Given the description of an element on the screen output the (x, y) to click on. 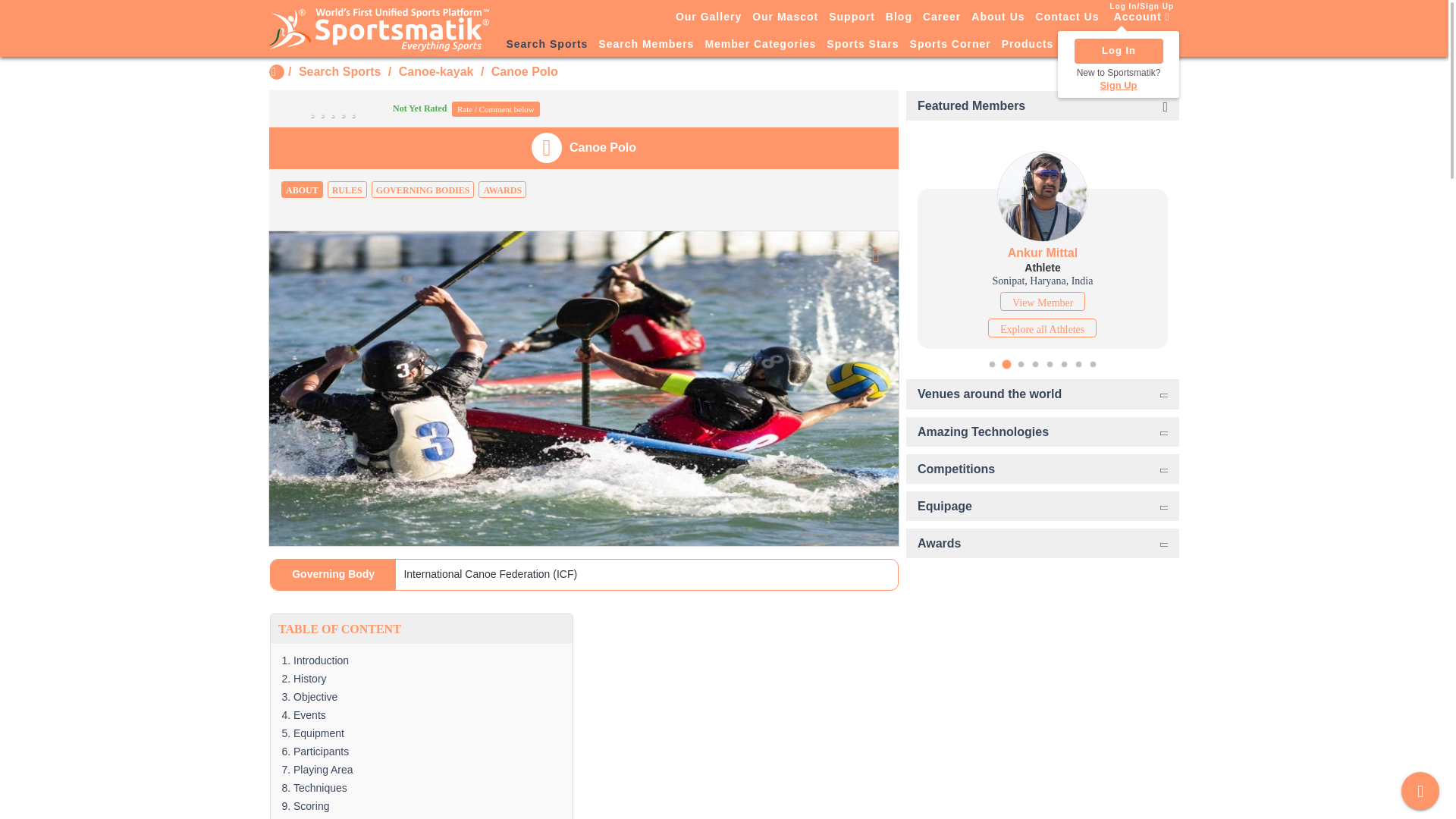
Sports Stars (862, 44)
Blog (898, 15)
Search Members (645, 44)
Canoe-kayak (436, 71)
About Us (997, 15)
Sports Jobs (1098, 44)
Not Yet Rated (366, 108)
Contact Us (1067, 15)
Sports Corner (949, 44)
Member Categories (759, 44)
Sign Up (1118, 85)
Support (852, 15)
Our Mascot (785, 15)
Career (941, 15)
Our Gallery (707, 15)
